Given the description of an element on the screen output the (x, y) to click on. 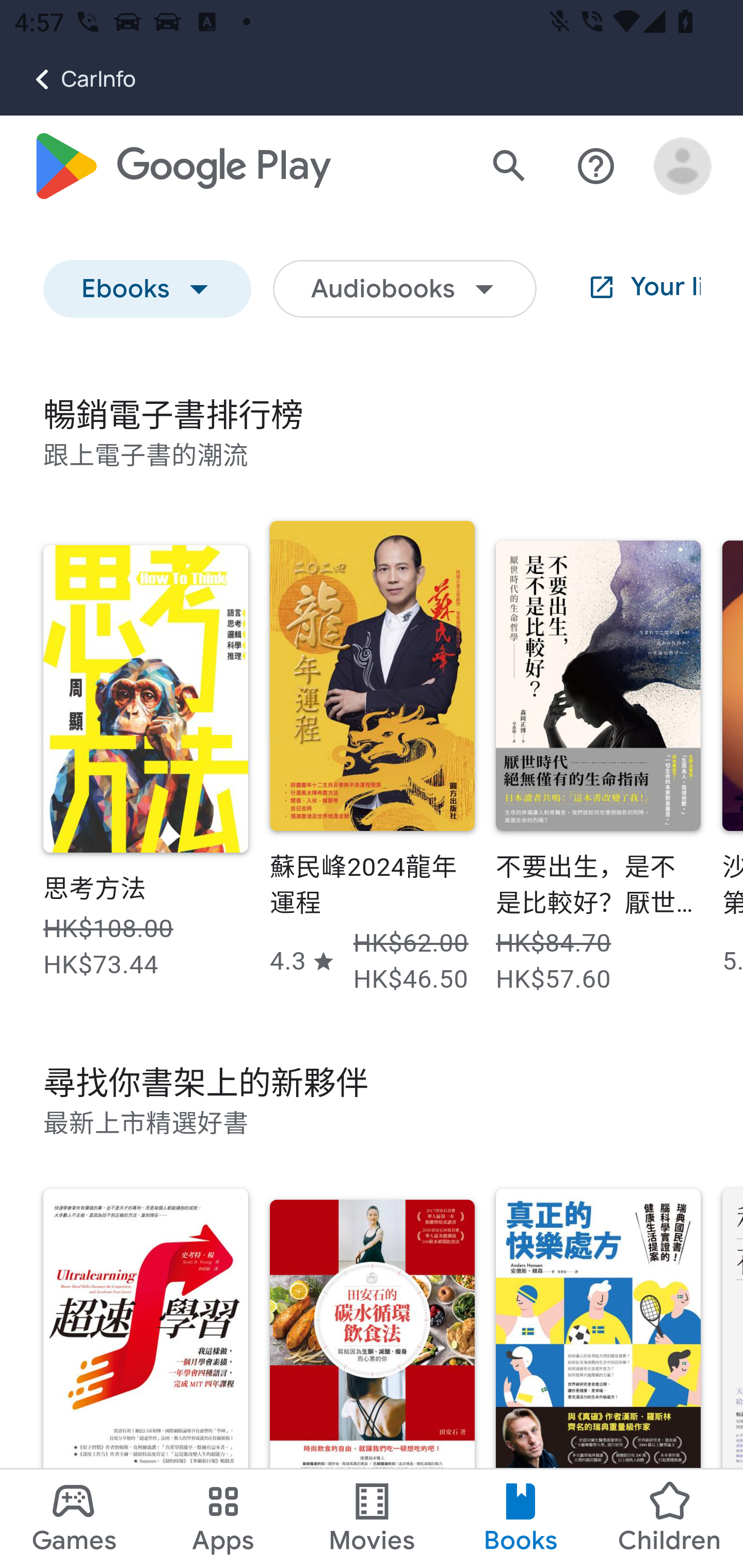
CarInfo (67, 79)
Google Play logo (180, 166)
Search (508, 166)
Help centre (596, 166)
Open account menu (682, 166)
Ebooks (147, 289)
Audiobooks (404, 289)
Your library (629, 289)
Games (74, 1518)
Apps (222, 1518)
Movies (372, 1518)
Books (520, 1518)
Children (668, 1518)
